Given the description of an element on the screen output the (x, y) to click on. 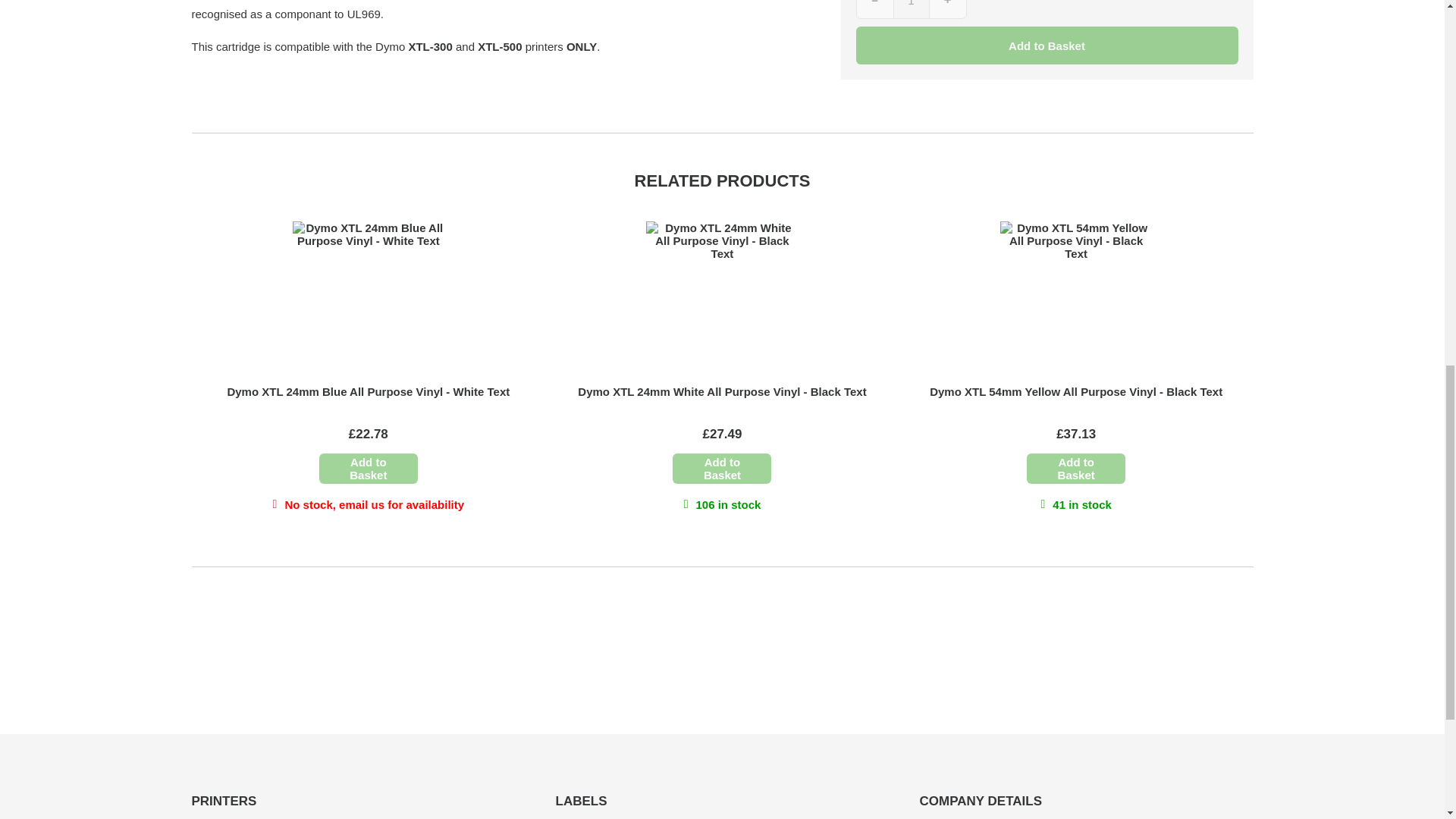
Add to Basket (721, 468)
Dymo XTL 24mm Blue All Purpose Vinyl - White Text (368, 391)
Dymo XTL 24mm White All Purpose Vinyl - Black Text (722, 391)
Add to Basket (367, 468)
Add to Basket (1075, 468)
Dymo XTL 54mm Yellow All Purpose Vinyl - Black Text (1076, 391)
